Given the description of an element on the screen output the (x, y) to click on. 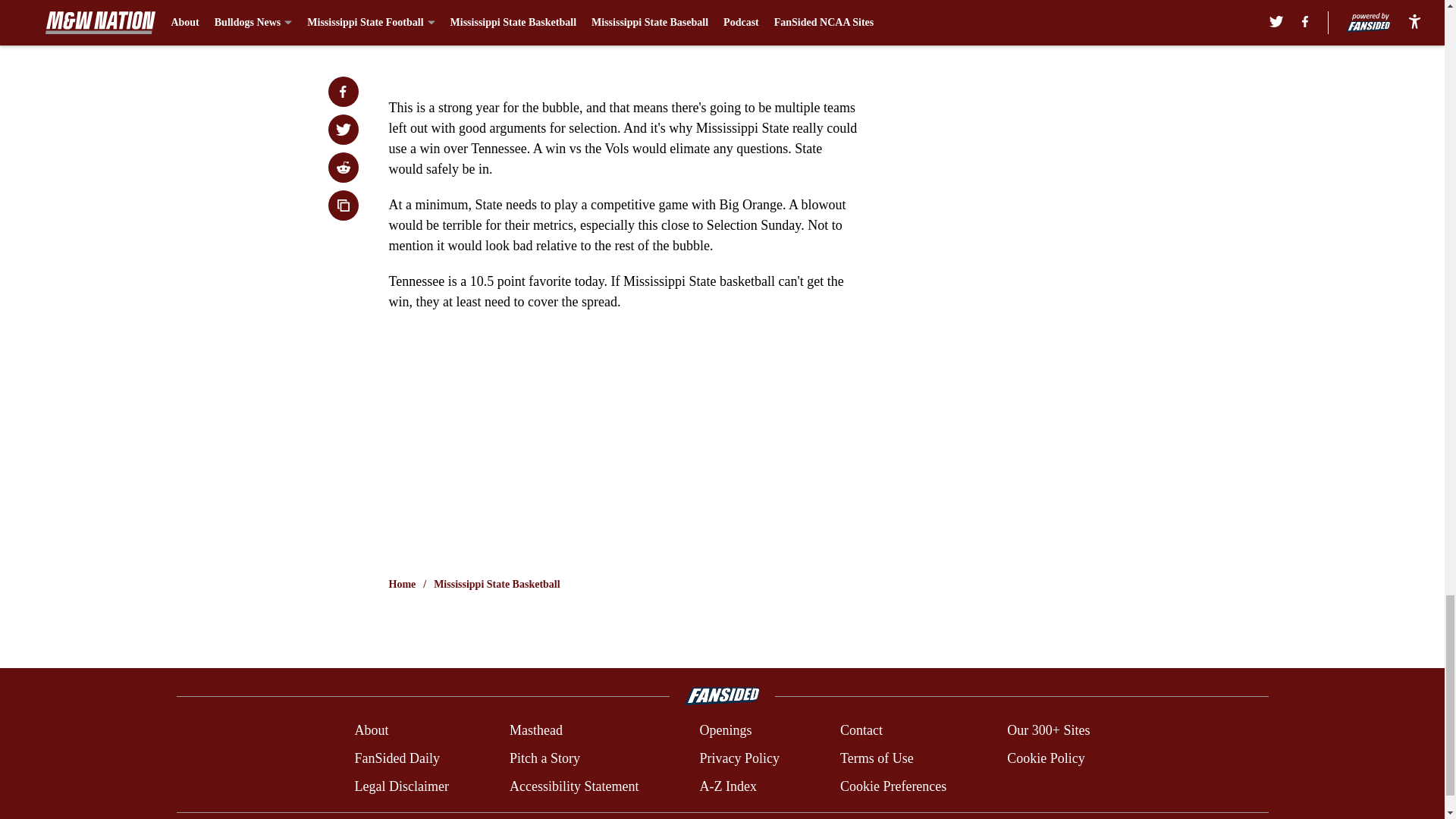
Contact (861, 730)
Privacy Policy (738, 758)
Terms of Use (877, 758)
Legal Disclaimer (400, 786)
Cookie Policy (1045, 758)
Mississippi State Basketball (496, 584)
Home (401, 584)
Pitch a Story (544, 758)
FanSided Daily (396, 758)
Openings (724, 730)
Masthead (535, 730)
About (370, 730)
